Given the description of an element on the screen output the (x, y) to click on. 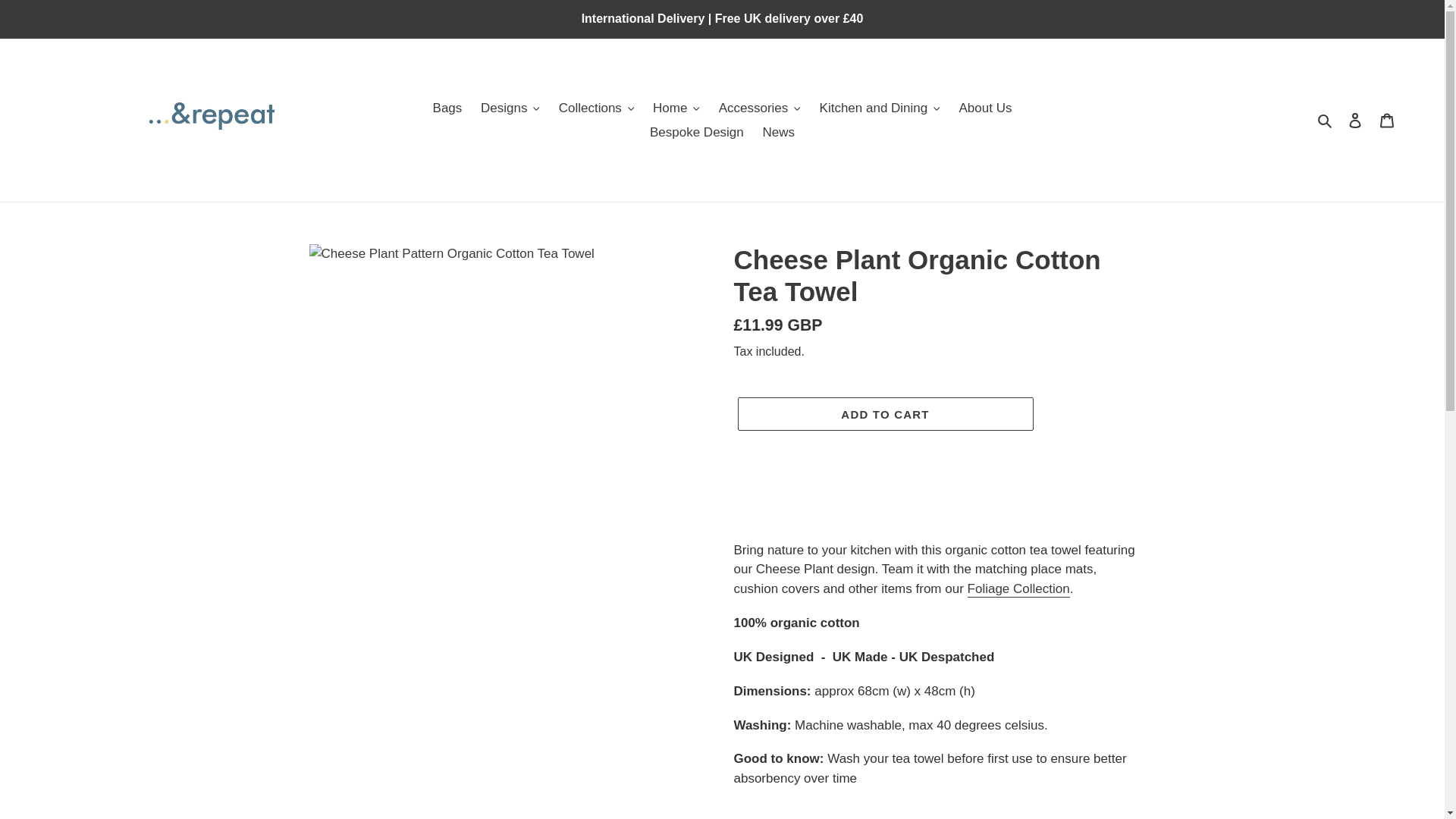
Kitchen and Dining (879, 108)
Designs (510, 108)
Collections (596, 108)
Home (676, 108)
Accessories (759, 108)
Bags (447, 108)
